Given the description of an element on the screen output the (x, y) to click on. 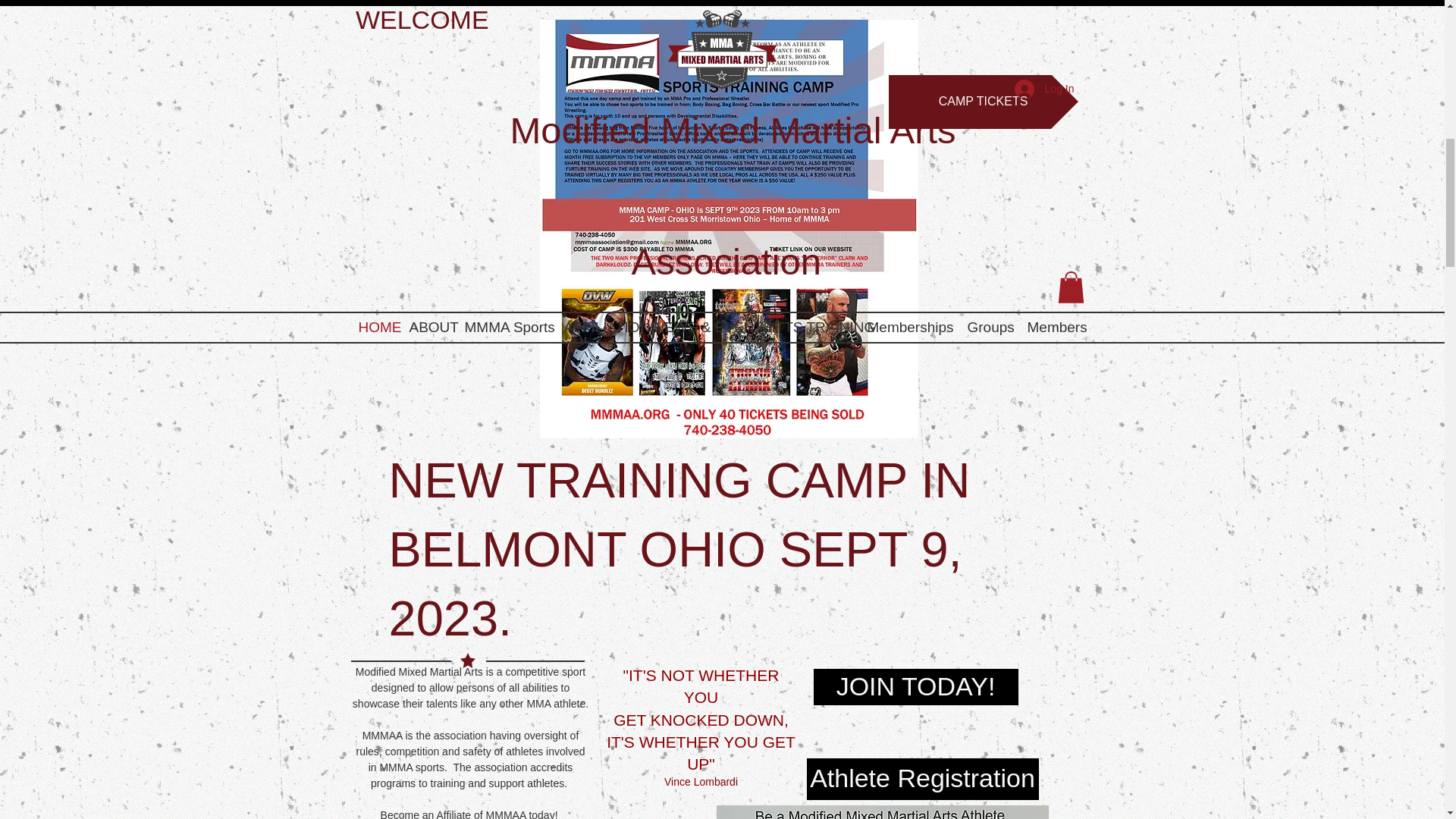
JOIN TODAY! (914, 687)
Athlete Registration (922, 779)
CAMP TICKETS (983, 101)
